Given the description of an element on the screen output the (x, y) to click on. 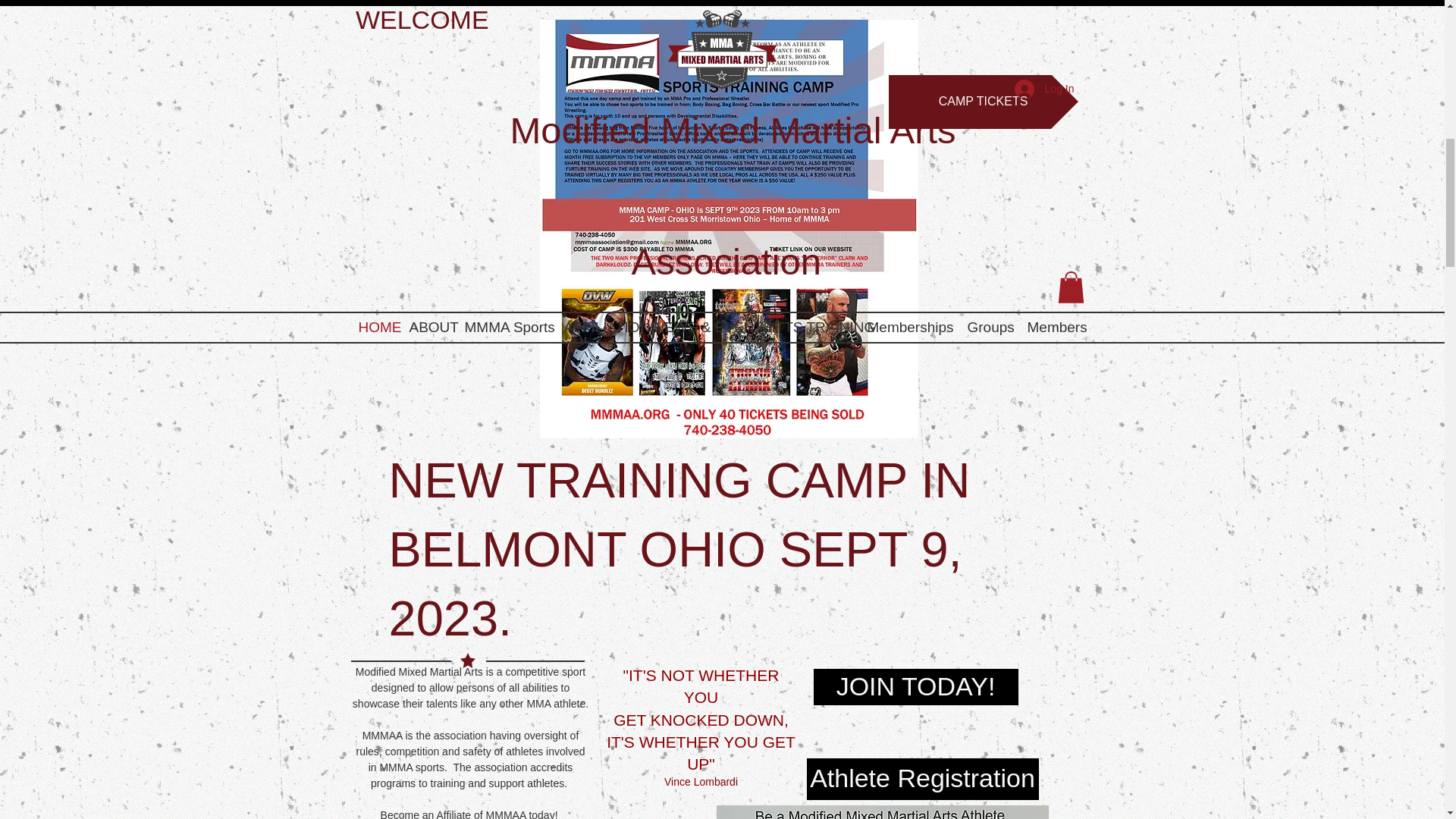
JOIN TODAY! (914, 687)
Athlete Registration (922, 779)
CAMP TICKETS (983, 101)
